Given the description of an element on the screen output the (x, y) to click on. 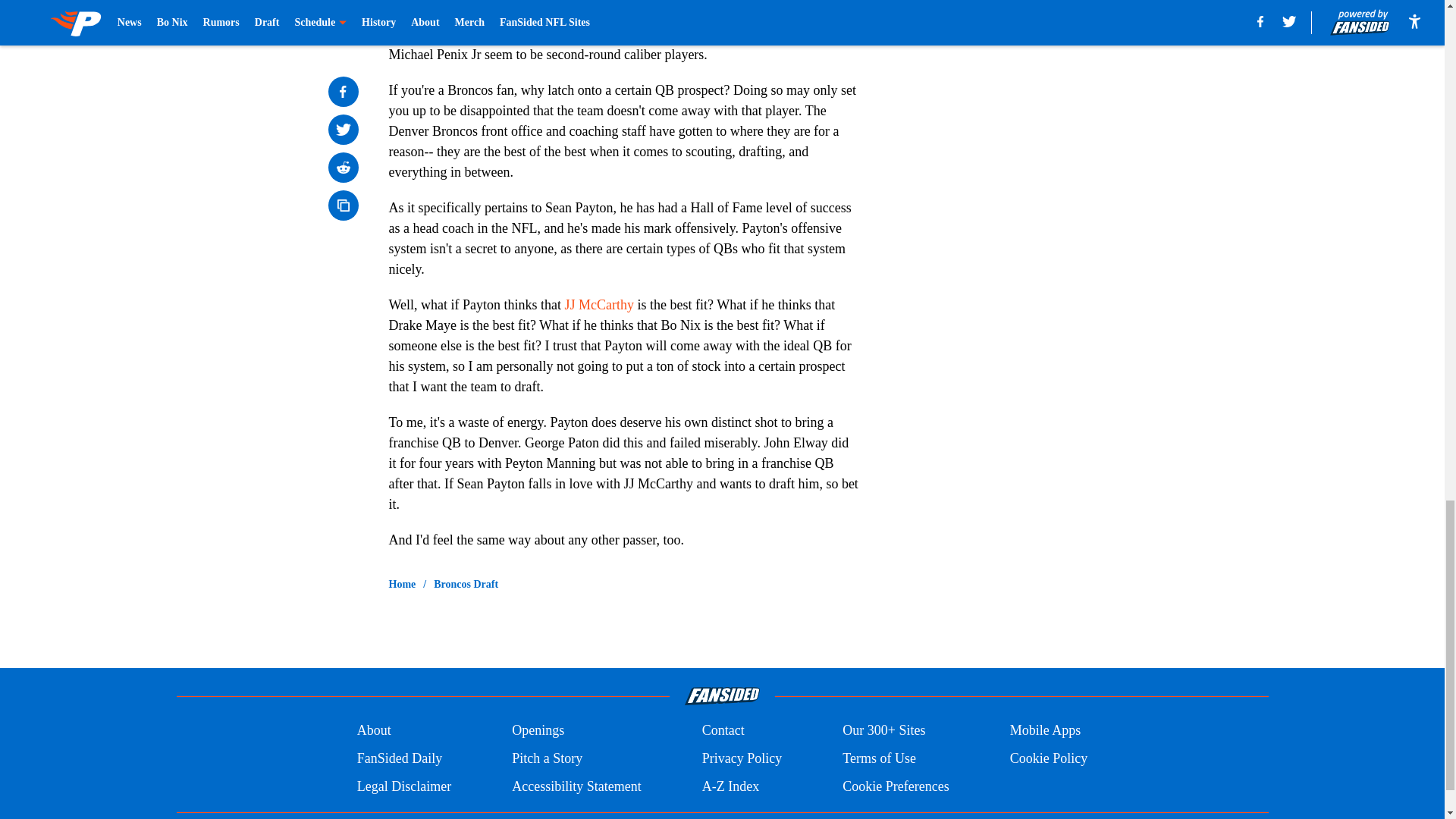
Openings (538, 730)
Accessibility Statement (576, 786)
Terms of Use (879, 758)
About (373, 730)
FanSided Daily (399, 758)
Privacy Policy (742, 758)
Broncos Draft (465, 584)
Cookie Preferences (896, 786)
Cookie Policy (1048, 758)
Legal Disclaimer (403, 786)
